Given the description of an element on the screen output the (x, y) to click on. 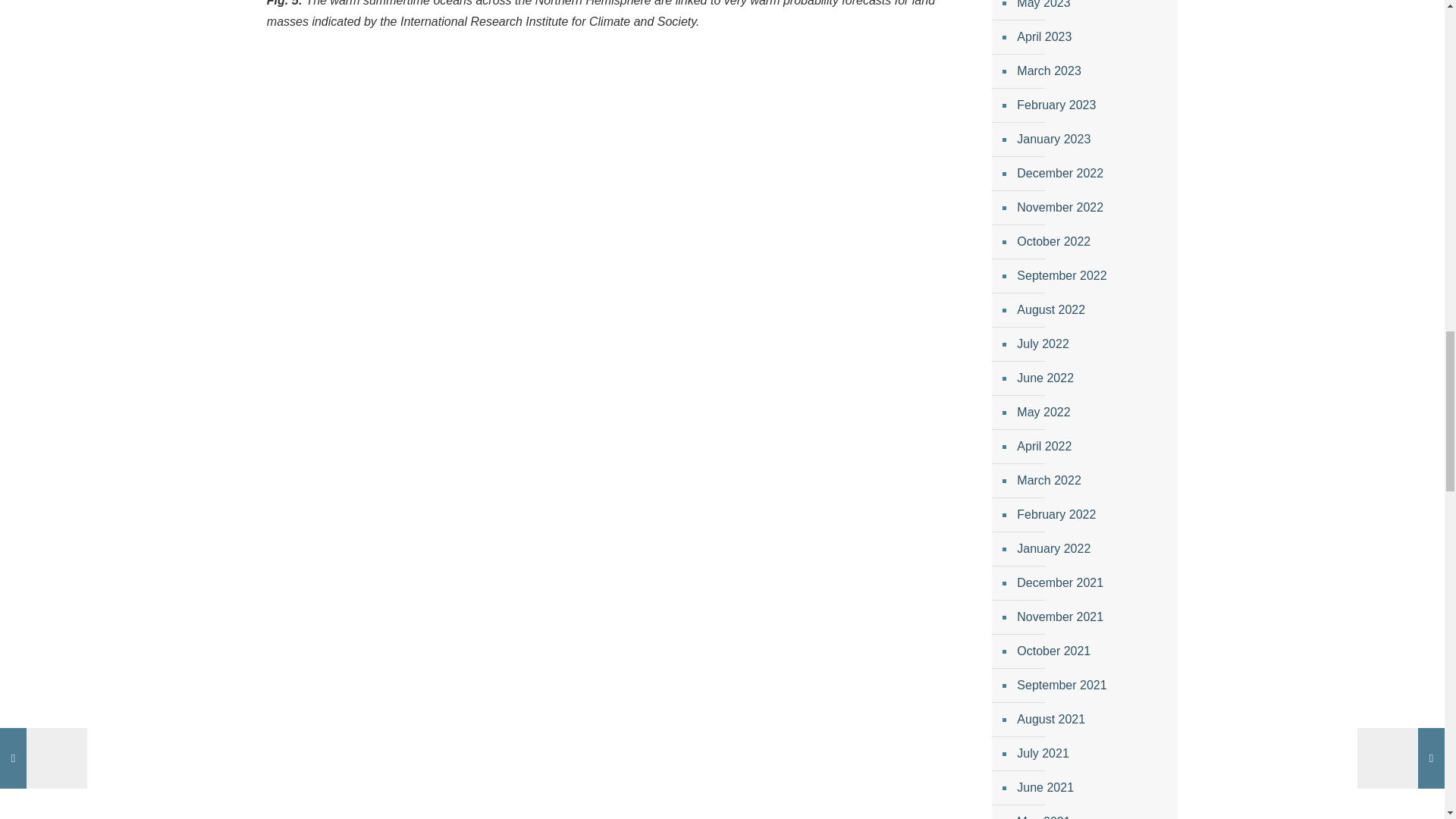
May 2023 (1091, 10)
April 2023 (1091, 37)
